Given the description of an element on the screen output the (x, y) to click on. 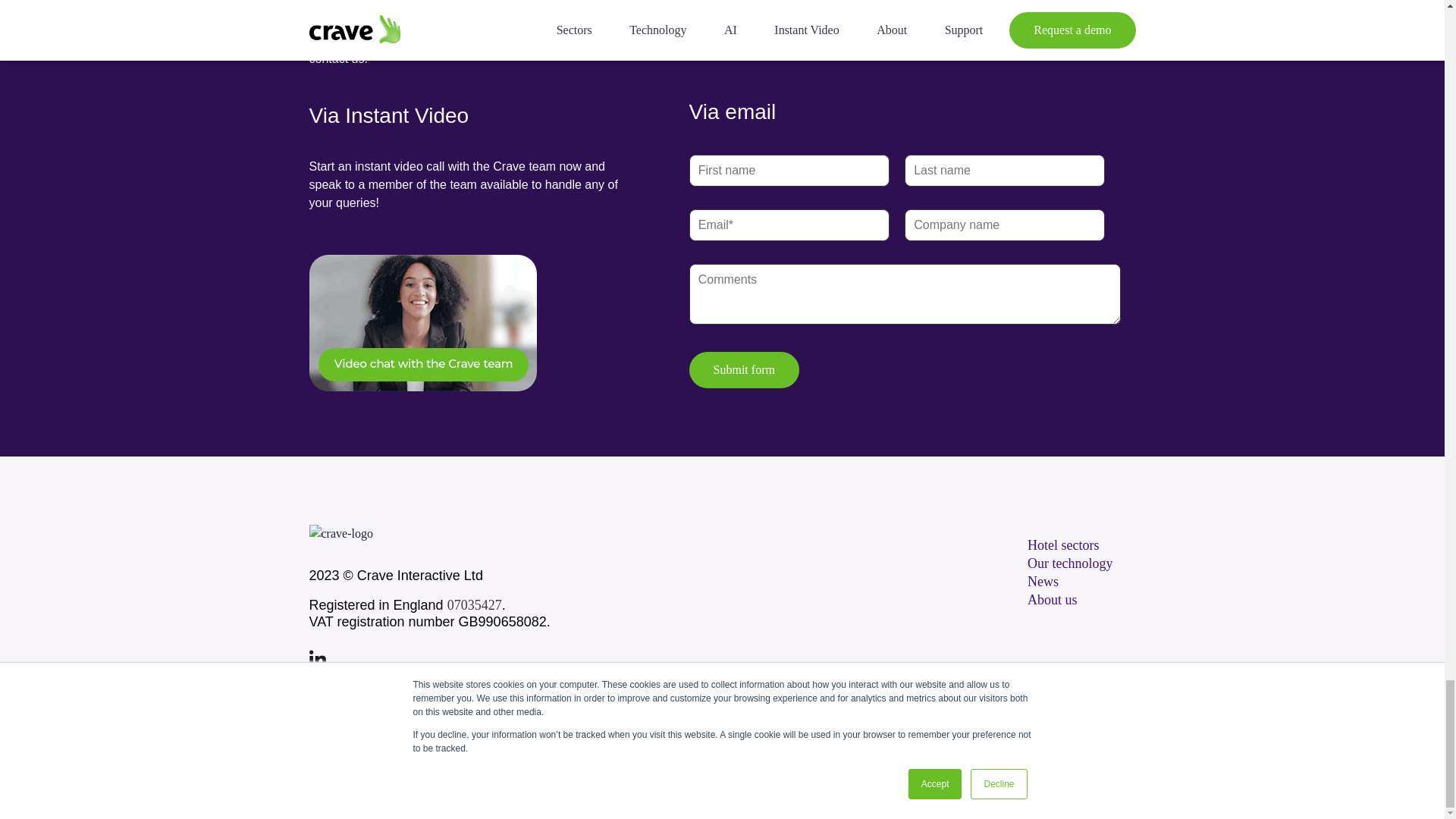
Submit form (743, 370)
